Given the description of an element on the screen output the (x, y) to click on. 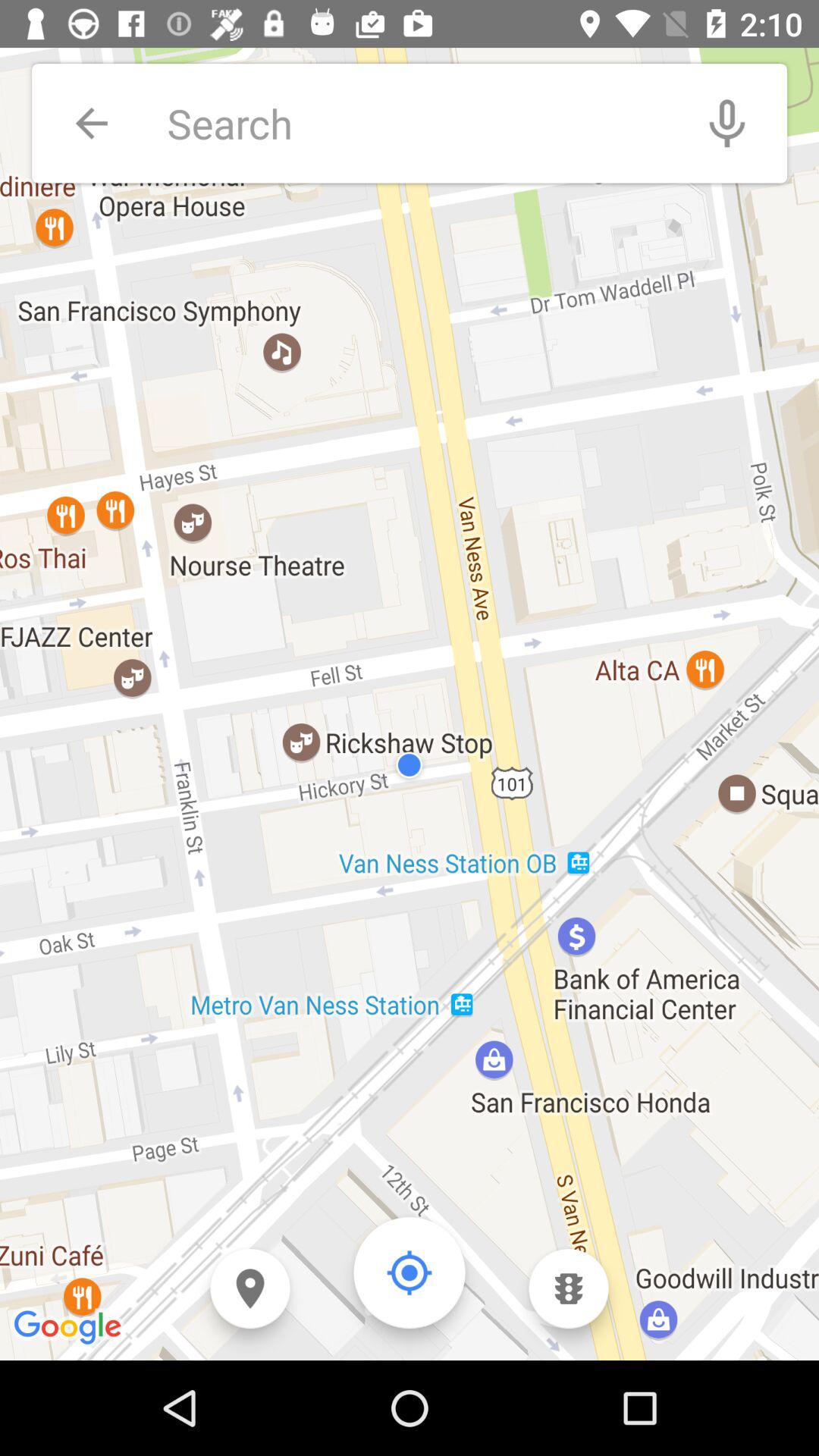
show nearby locations (250, 1288)
